Given the description of an element on the screen output the (x, y) to click on. 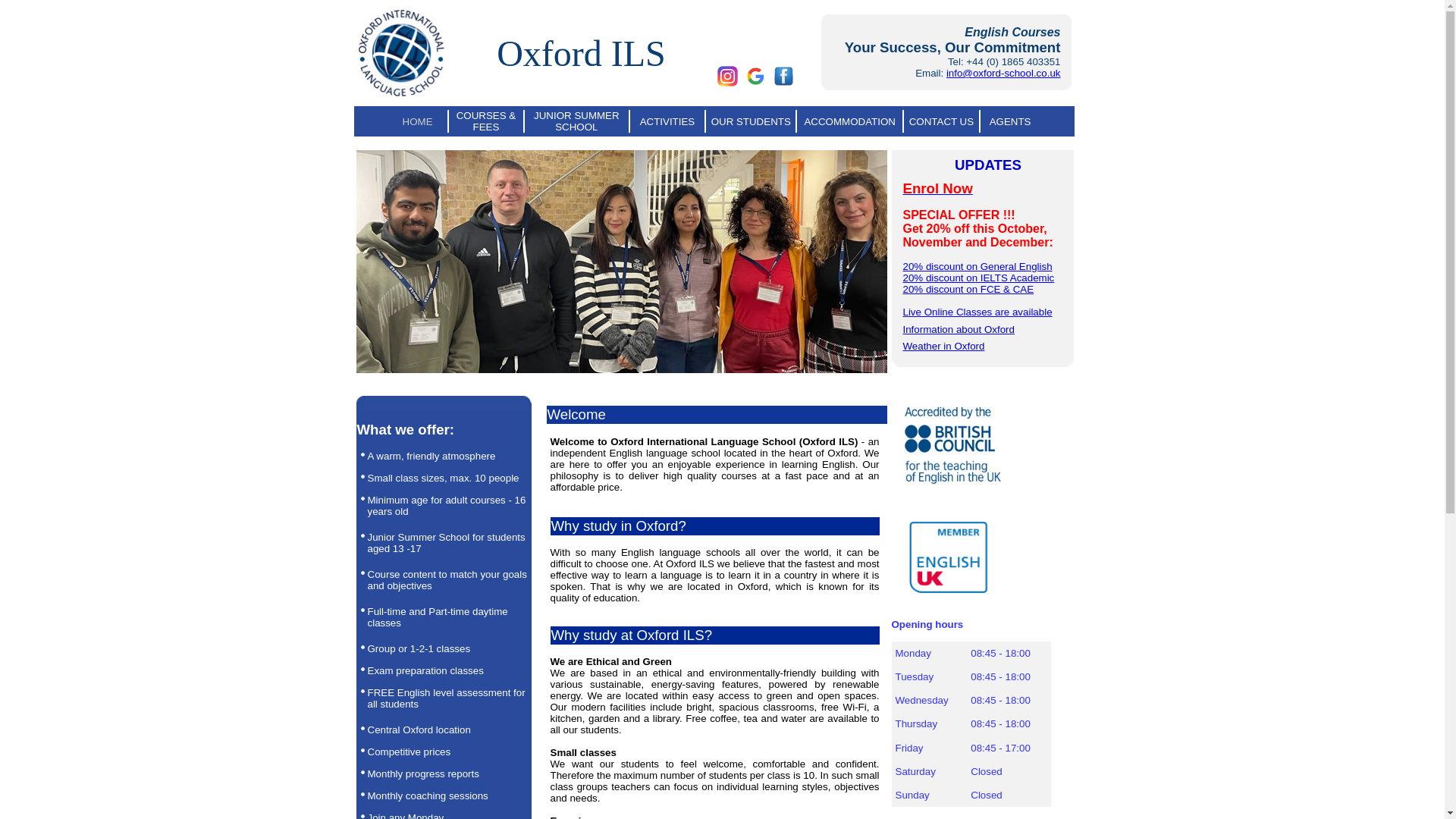
CONTACT US (941, 120)
JUNIOR SUMMER SCHOOL (577, 120)
ACCOMMODATION (849, 120)
HOME (417, 120)
ACTIVITIES (667, 120)
AGENTS (1010, 120)
Enrol Now (937, 189)
OUR STUDENTS (750, 120)
